Given the description of an element on the screen output the (x, y) to click on. 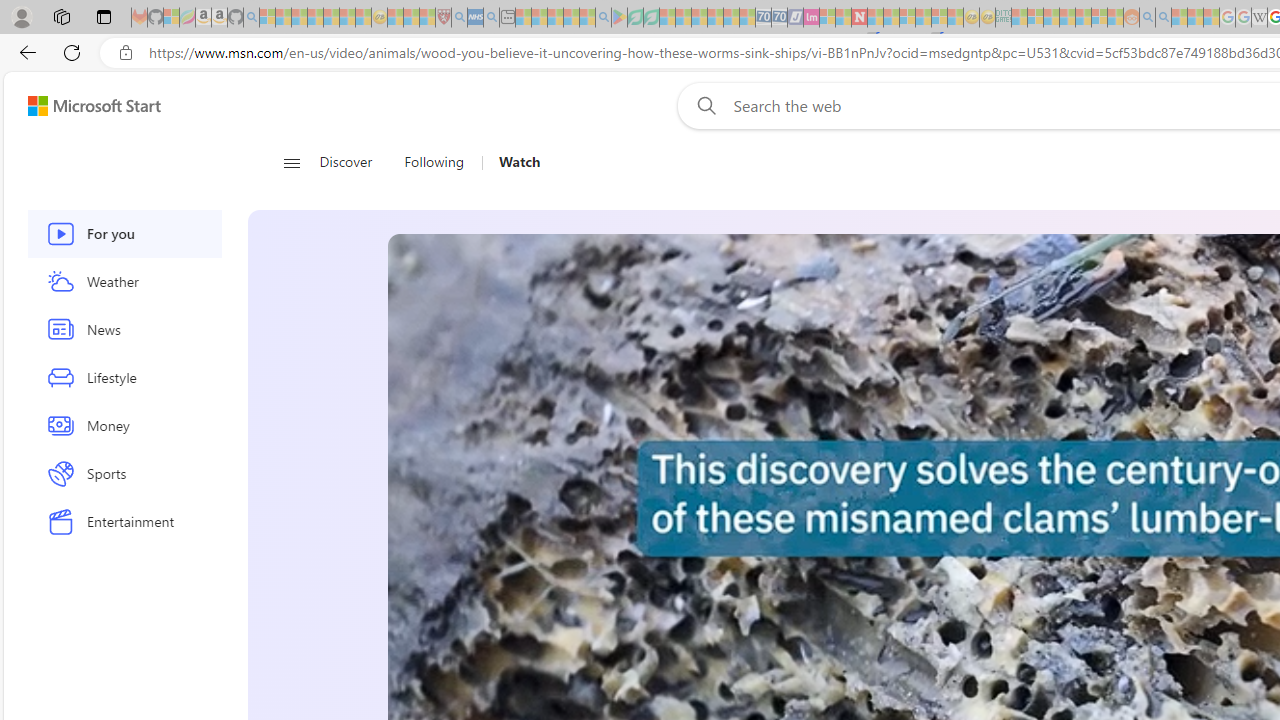
14 Common Myths Debunked By Scientific Facts - Sleeping (891, 17)
Utah sues federal government - Search - Sleeping (1163, 17)
Glass Octopus Captured in Rare Footage By U... (1064, 588)
Web search (702, 105)
Latest Politics News & Archive | Newsweek.com - Sleeping (859, 17)
Watch (511, 162)
Local - MSN - Sleeping (427, 17)
